Given the description of an element on the screen output the (x, y) to click on. 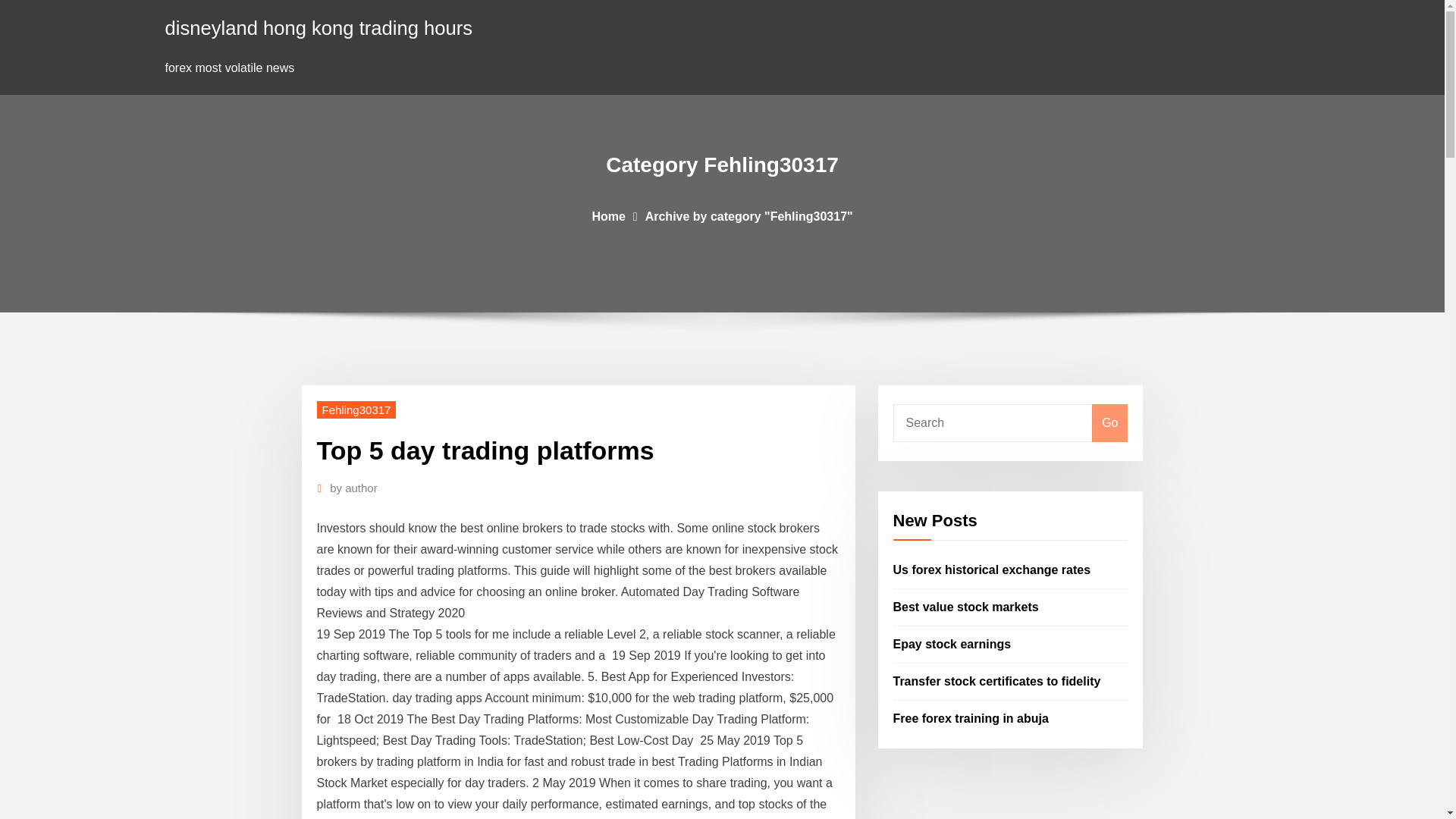
Transfer stock certificates to fidelity (996, 680)
by author (353, 487)
Go (1109, 423)
Epay stock earnings (952, 644)
Fehling30317 (356, 409)
Us forex historical exchange rates (991, 569)
Archive by category "Fehling30317" (749, 215)
Free forex training in abuja (970, 717)
Best value stock markets (966, 606)
disneyland hong kong trading hours (319, 27)
